Given the description of an element on the screen output the (x, y) to click on. 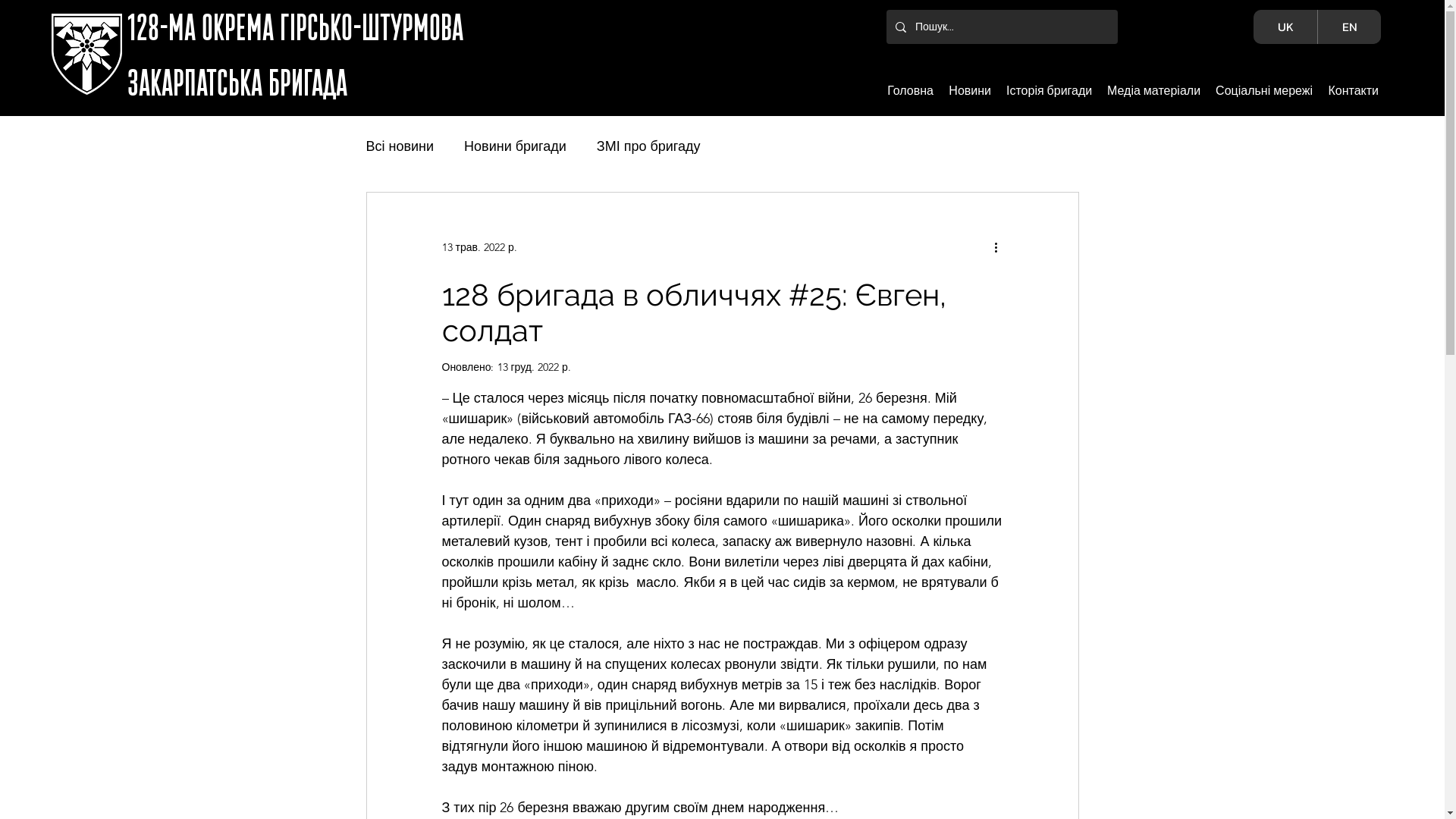
EN Element type: text (1348, 26)
UK Element type: text (1285, 26)
